Given the description of an element on the screen output the (x, y) to click on. 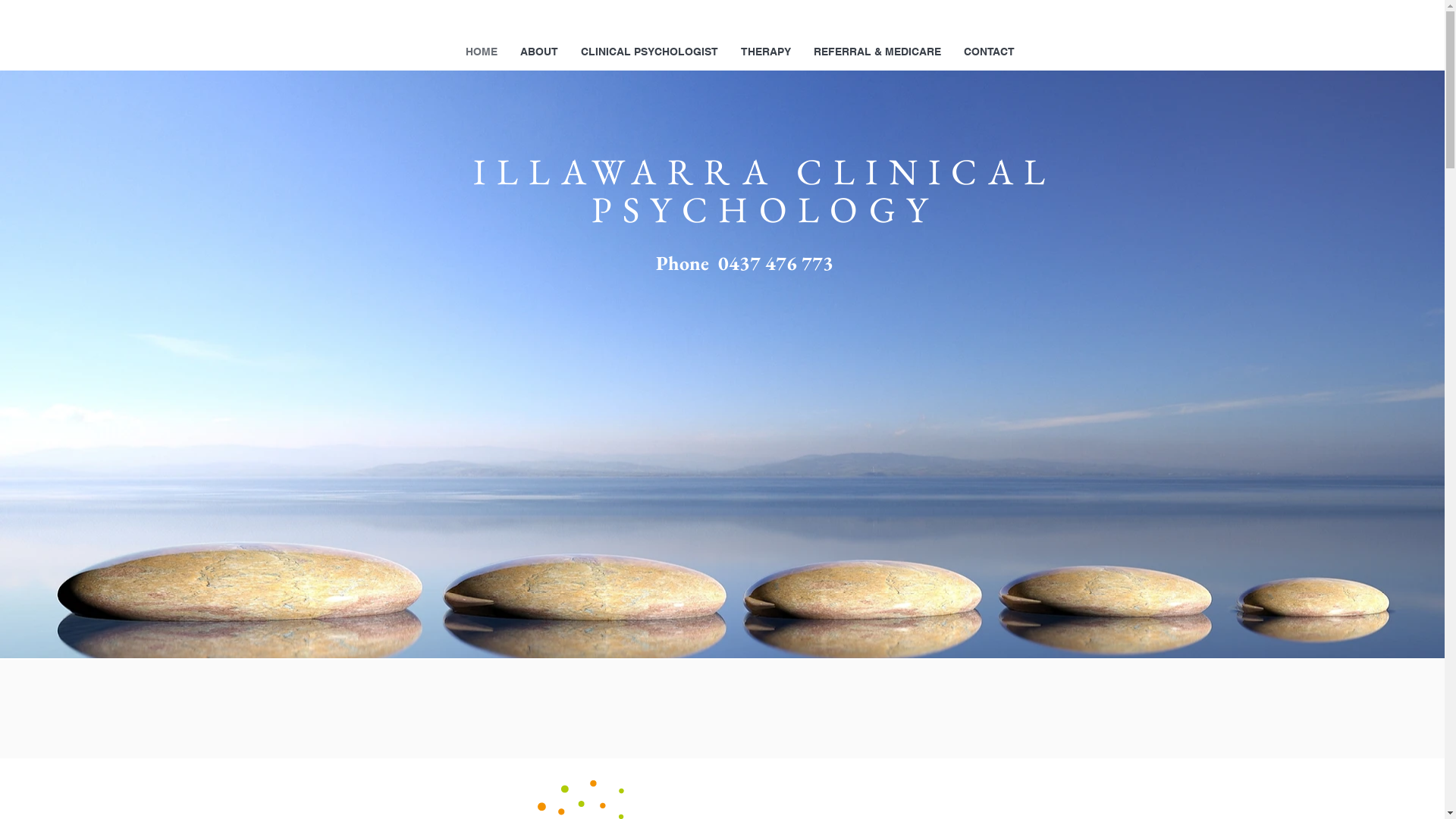
CLINICAL PSYCHOLOGIST Element type: text (649, 51)
REFERRAL & MEDICARE Element type: text (877, 51)
HOME Element type: text (481, 51)
THERAPY Element type: text (765, 51)
CONTACT Element type: text (989, 51)
ABOUT Element type: text (538, 51)
